Given the description of an element on the screen output the (x, y) to click on. 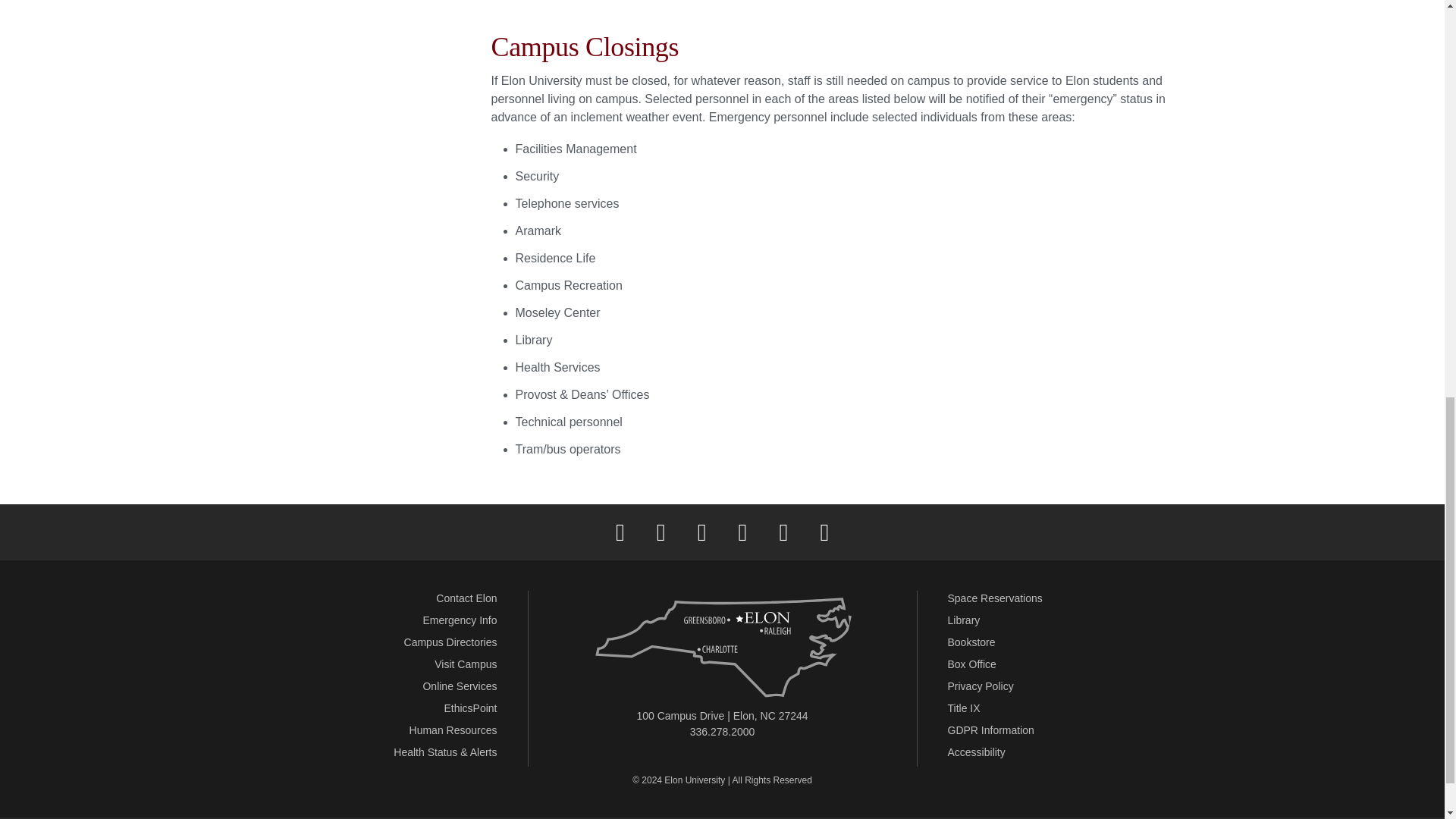
YouTube (783, 532)
Facebook (620, 532)
LinkedIn (742, 532)
Instagram (701, 532)
Full Social Media List (824, 532)
